Given the description of an element on the screen output the (x, y) to click on. 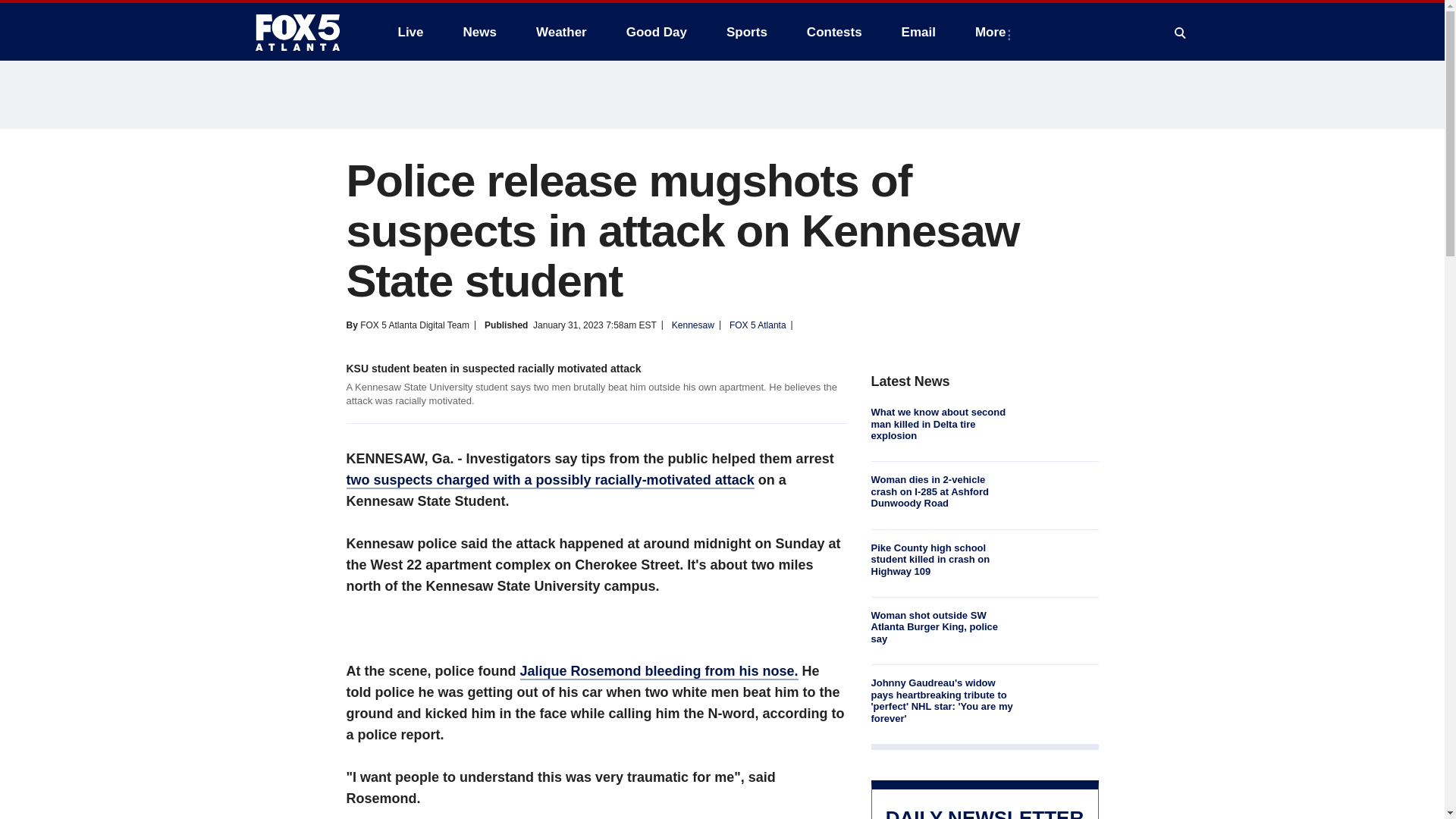
Weather (561, 32)
Sports (746, 32)
Good Day (656, 32)
News (479, 32)
Contests (834, 32)
More (993, 32)
Email (918, 32)
Live (410, 32)
